Given the description of an element on the screen output the (x, y) to click on. 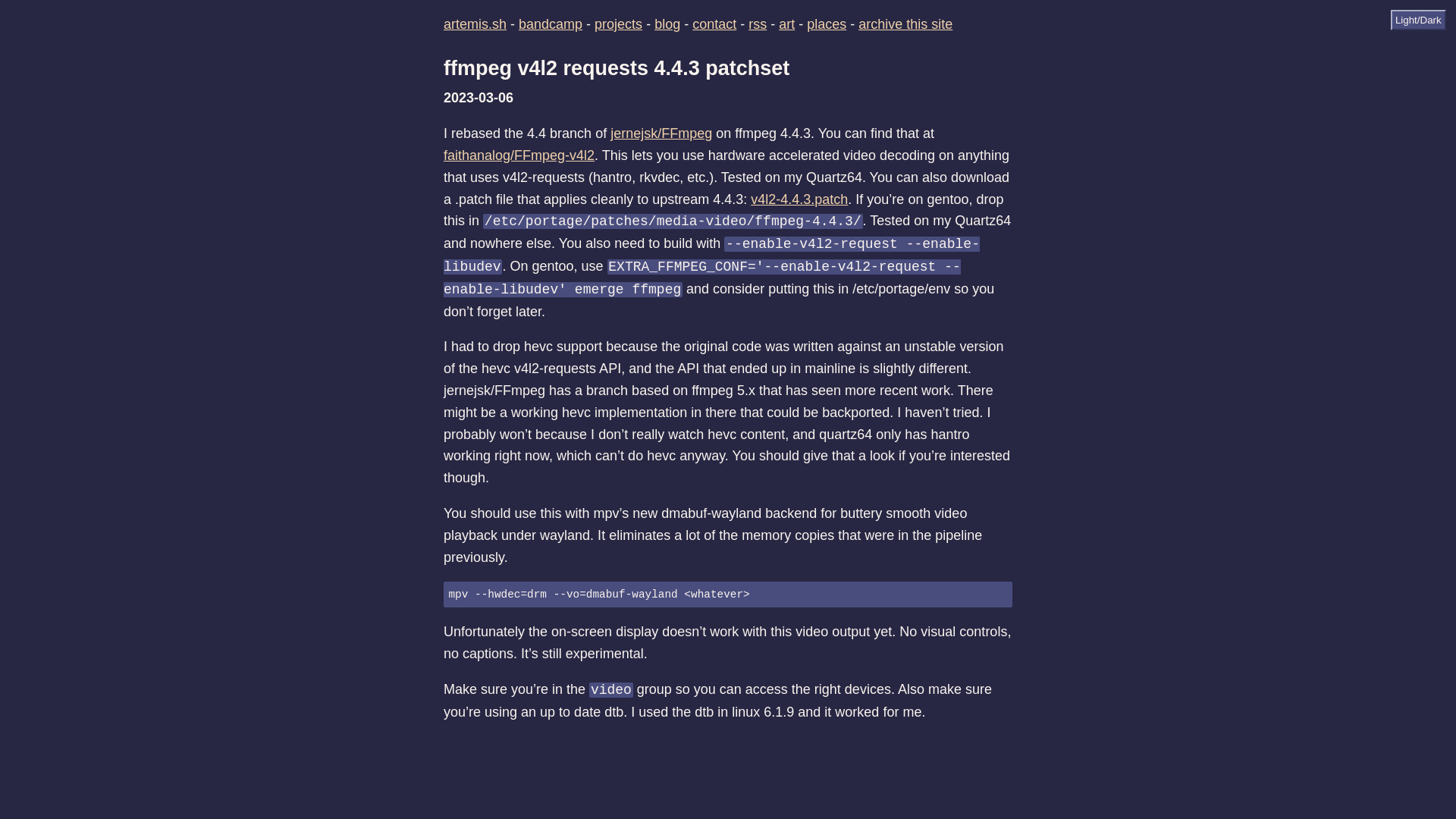
bandcamp (550, 23)
artemis.sh (475, 23)
